Given the description of an element on the screen output the (x, y) to click on. 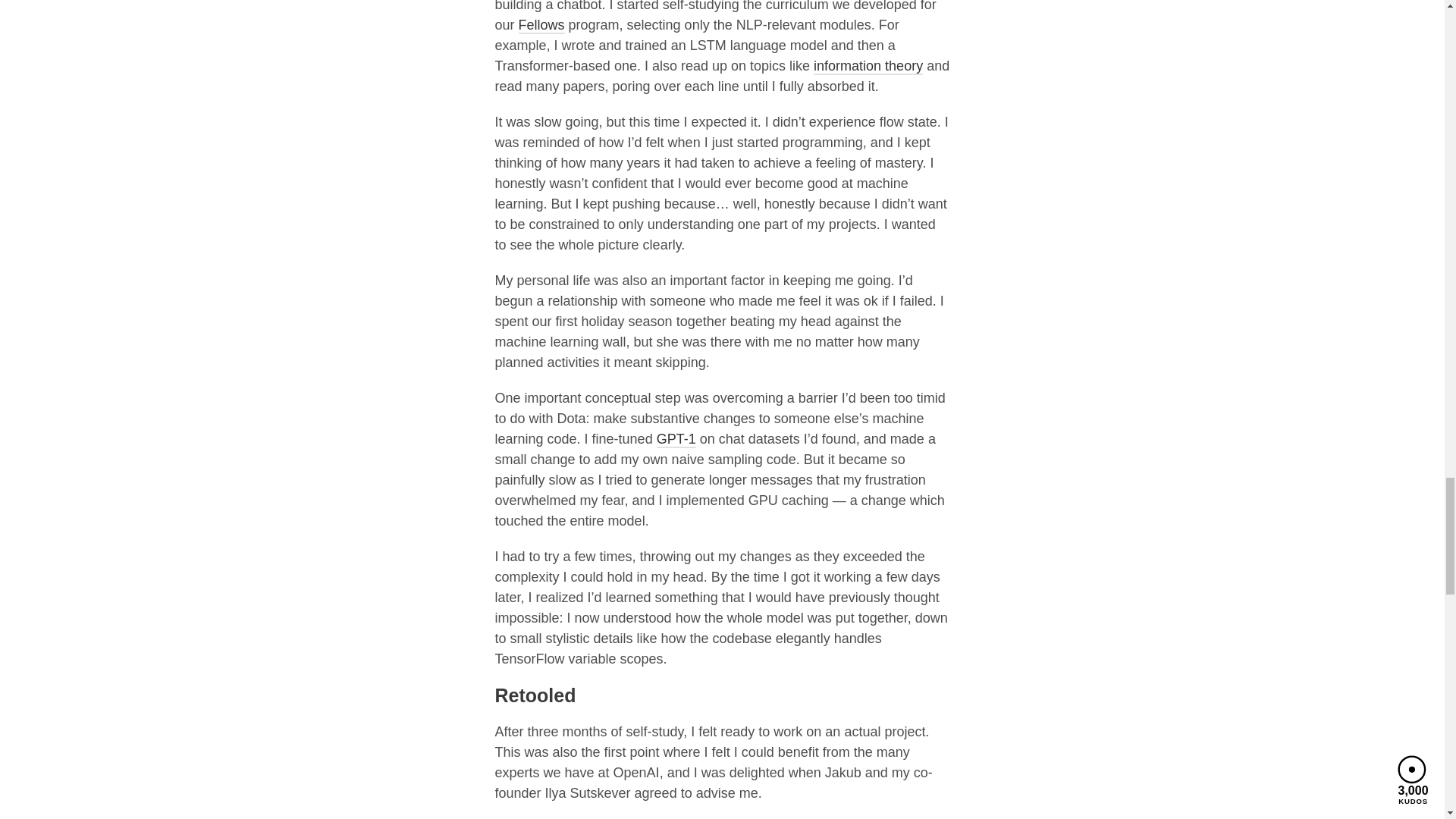
GPT-1 (675, 439)
Fellows (541, 25)
information theory (868, 66)
